Given the description of an element on the screen output the (x, y) to click on. 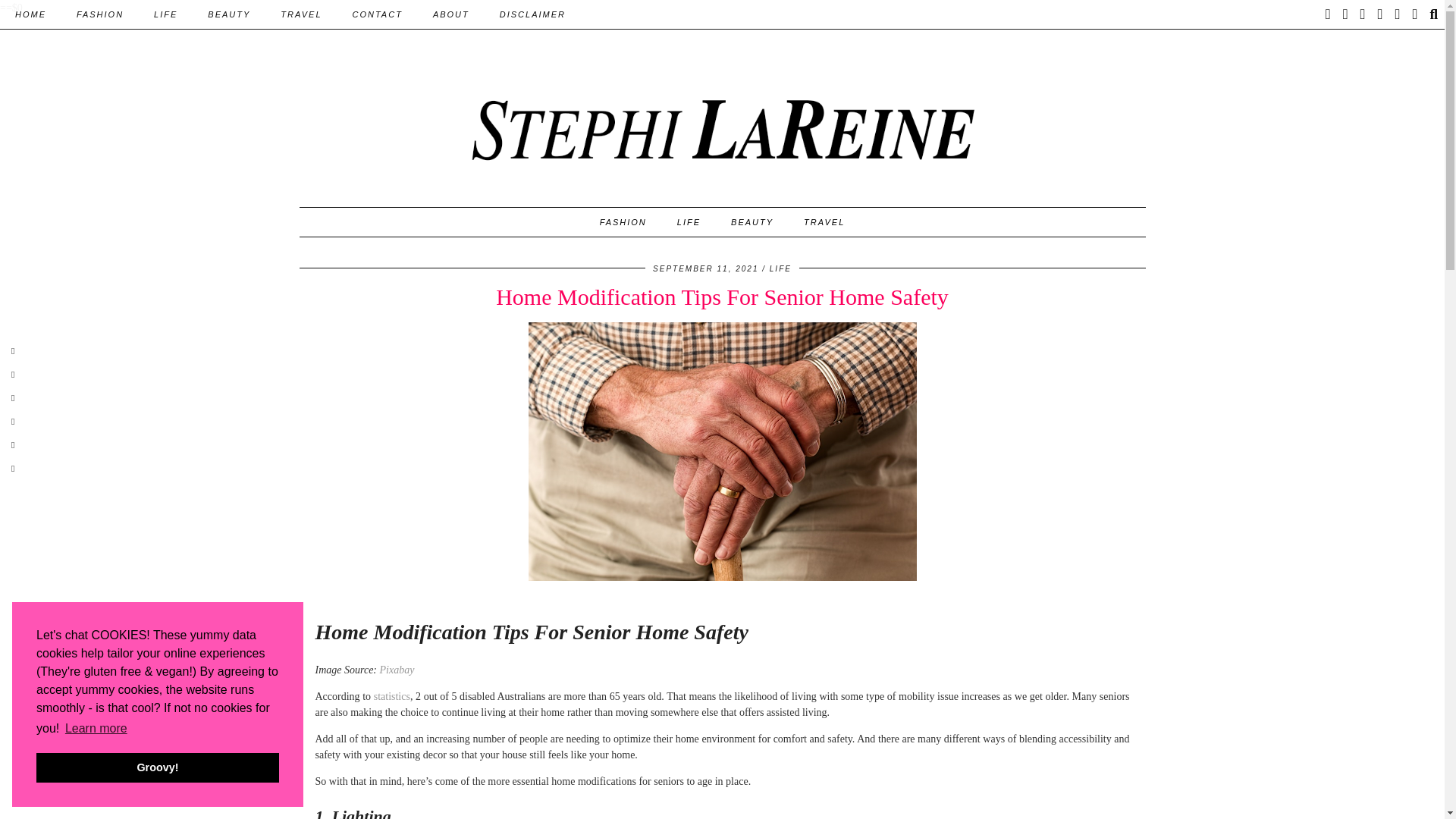
BEAUTY (228, 14)
Groovy! (157, 767)
Learn more (95, 728)
FASHION (99, 14)
LIFE (165, 14)
HOME (30, 14)
